Given the description of an element on the screen output the (x, y) to click on. 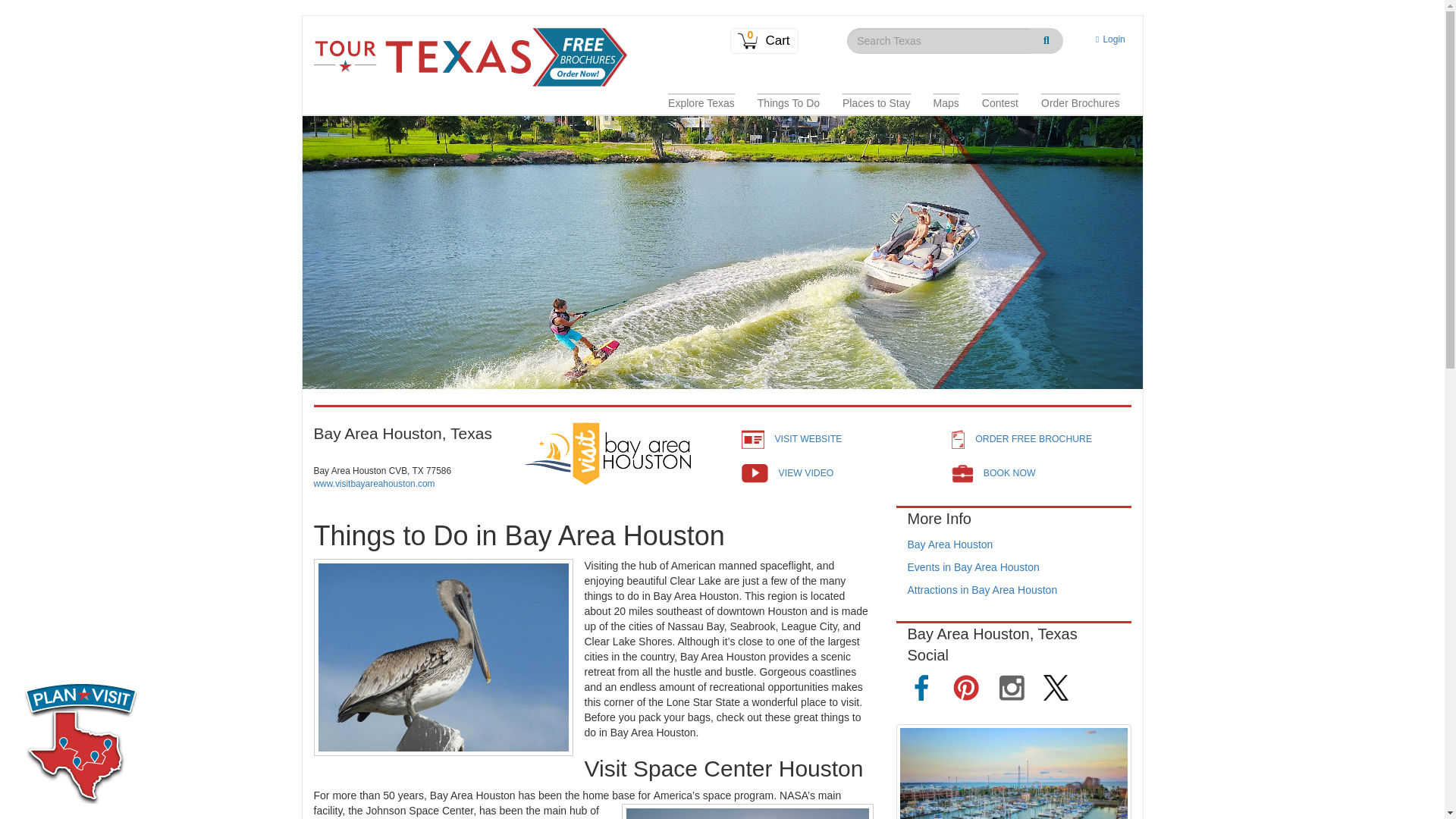
Things To Do (788, 102)
Explore Texas (700, 102)
Maps (946, 102)
Places to Stay (876, 102)
Login (1107, 39)
